Given the description of an element on the screen output the (x, y) to click on. 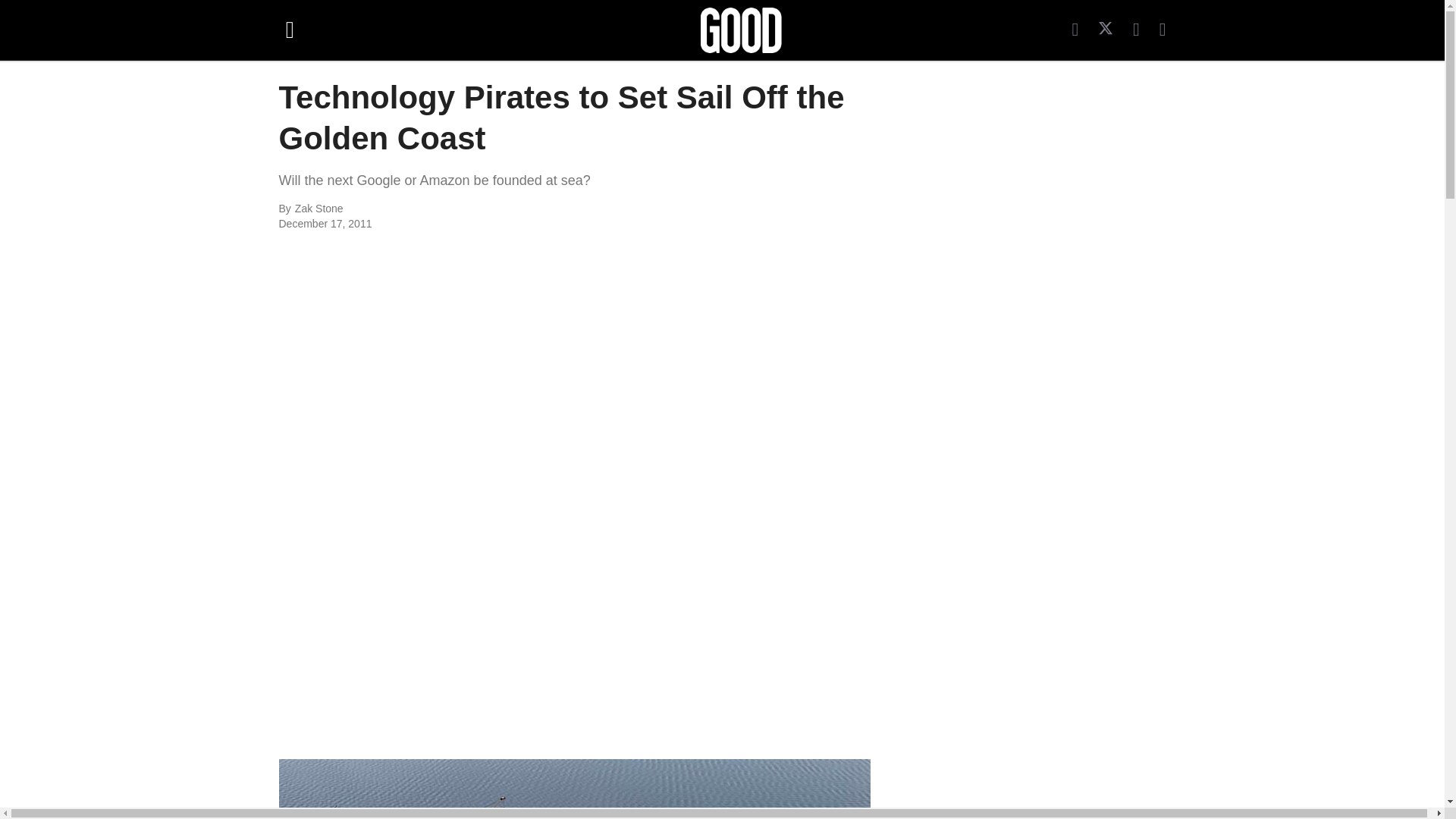
Zak Stone (459, 209)
